Given the description of an element on the screen output the (x, y) to click on. 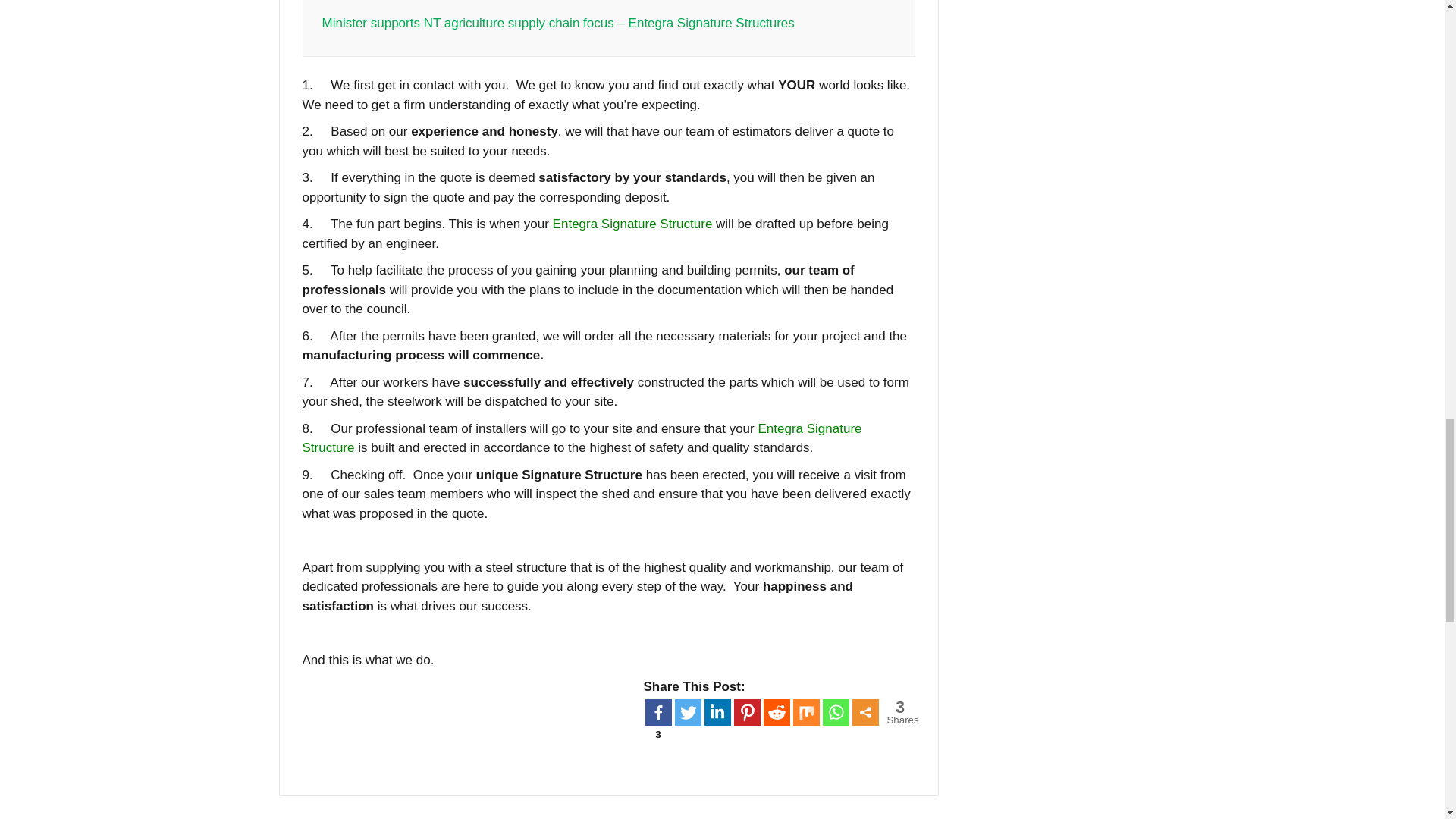
Entegra Signature Structure (633, 223)
Entegra Signature Structure (581, 438)
